Given the description of an element on the screen output the (x, y) to click on. 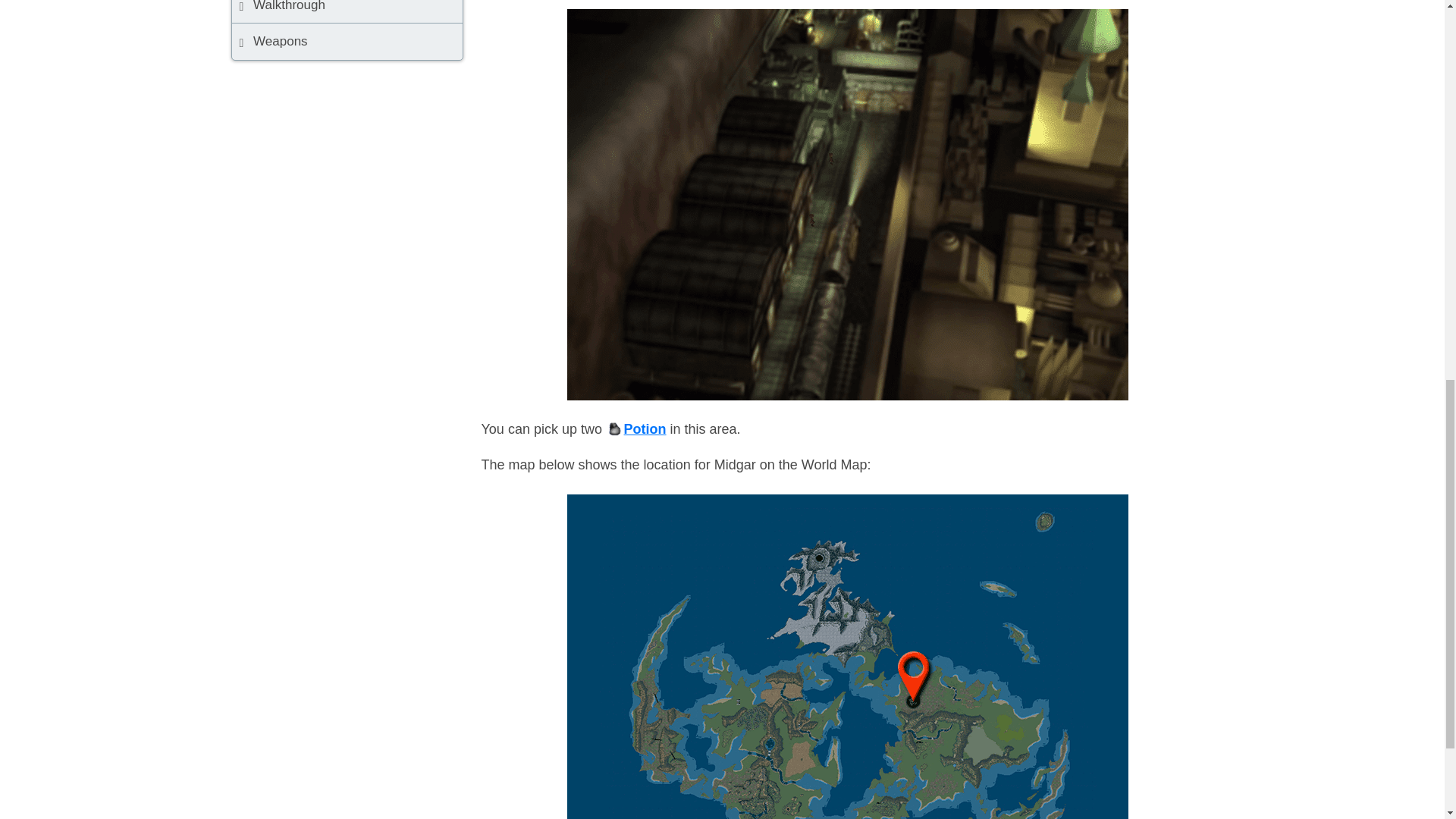
Potion (635, 428)
Weapons (347, 41)
Walkthrough (347, 12)
